Given the description of an element on the screen output the (x, y) to click on. 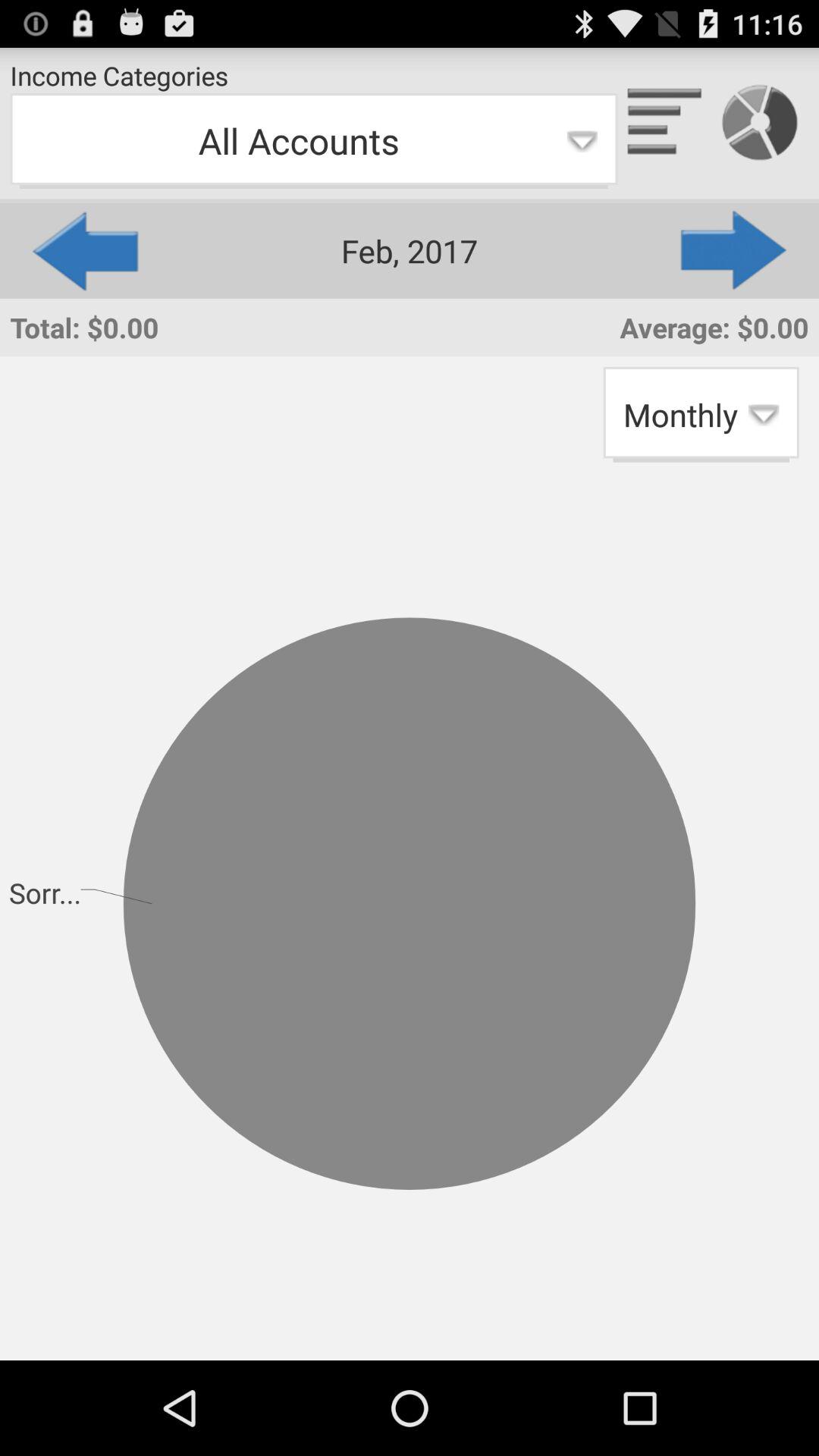
launch button next to the all accounts (735, 250)
